Given the description of an element on the screen output the (x, y) to click on. 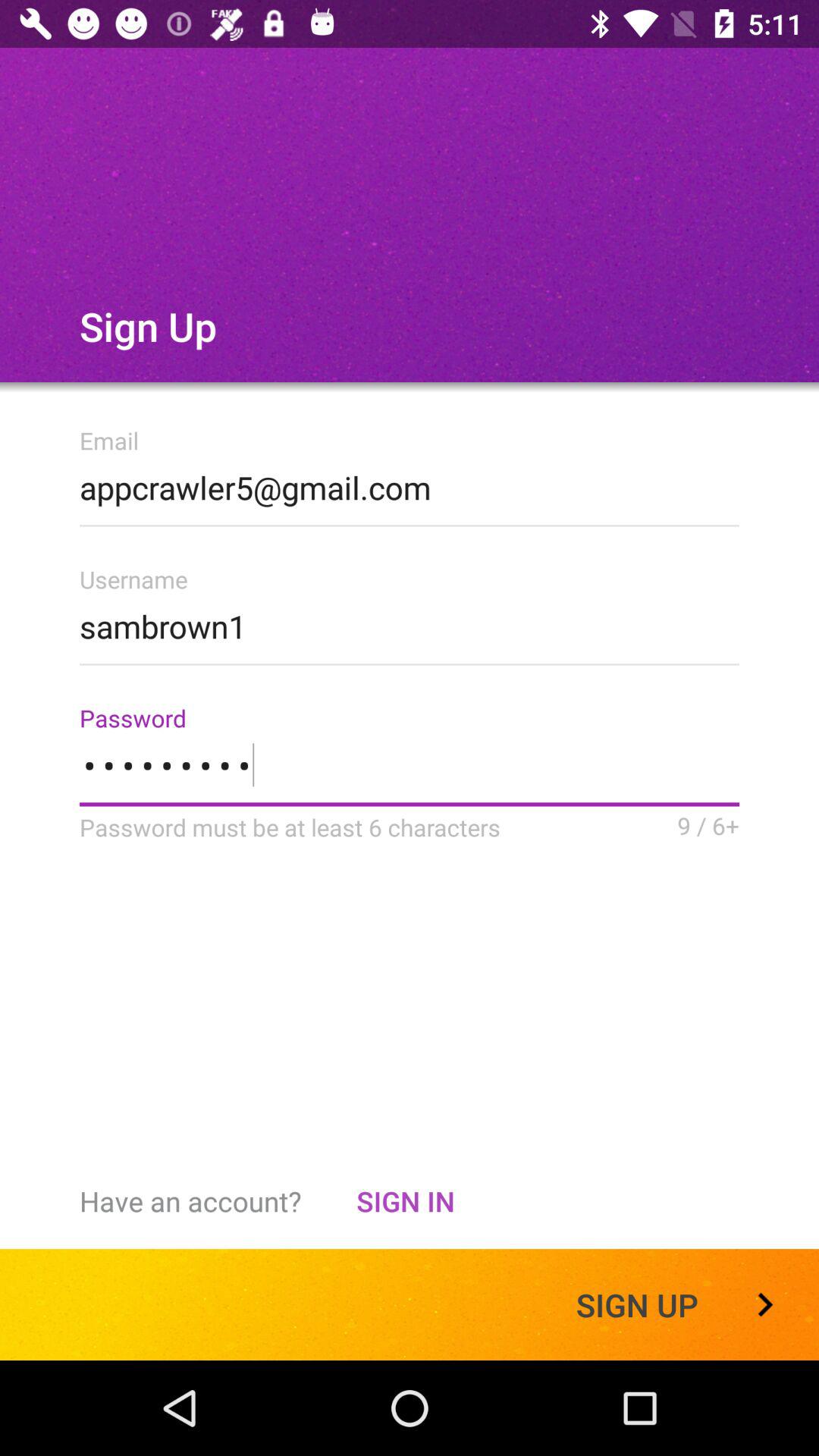
turn on sign in icon (405, 1200)
